Given the description of an element on the screen output the (x, y) to click on. 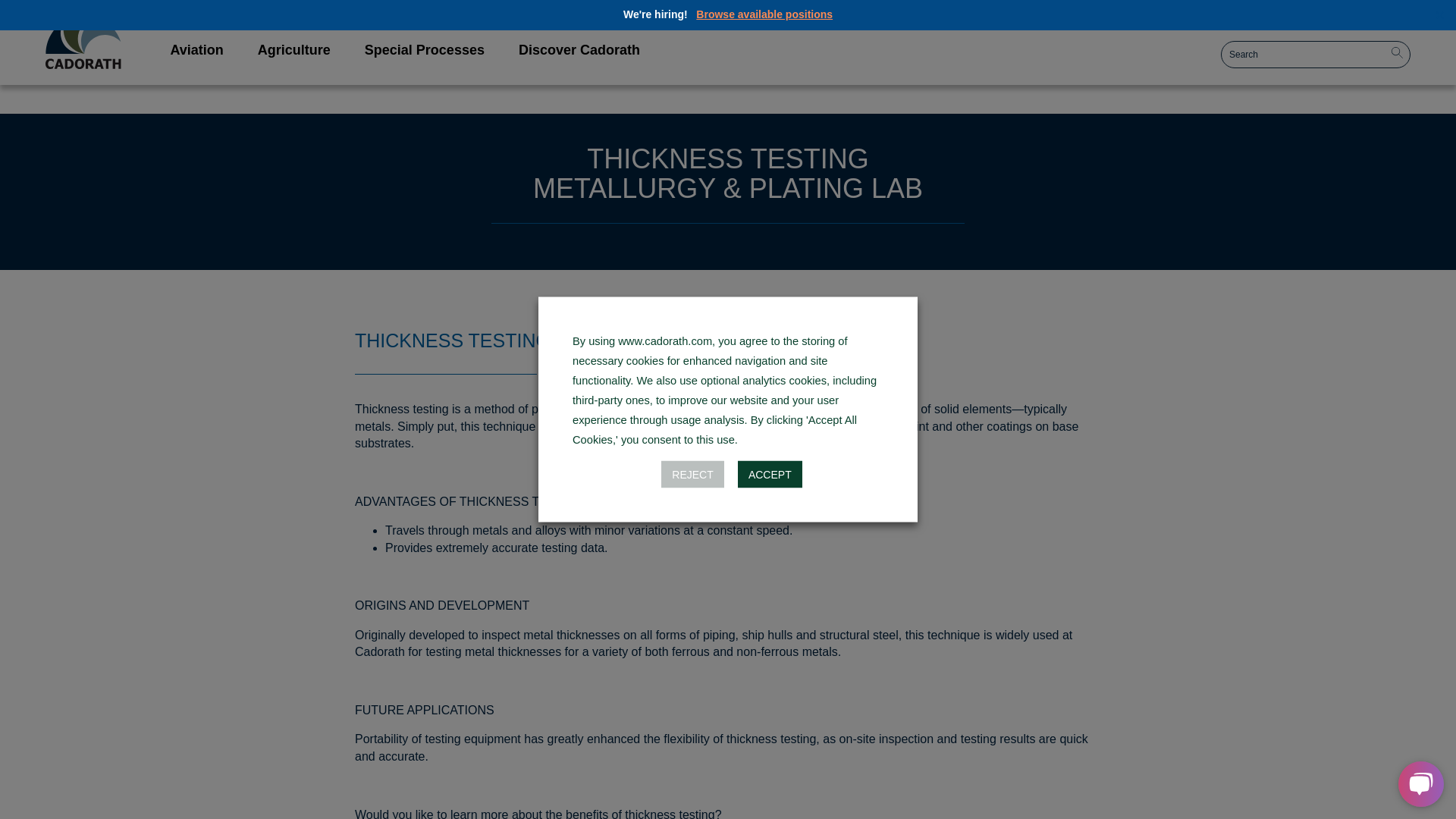
Aviation (406, 50)
Special Processes (197, 50)
Return to home page (426, 50)
Browse available positions (82, 52)
Agriculture (763, 14)
